Given the description of an element on the screen output the (x, y) to click on. 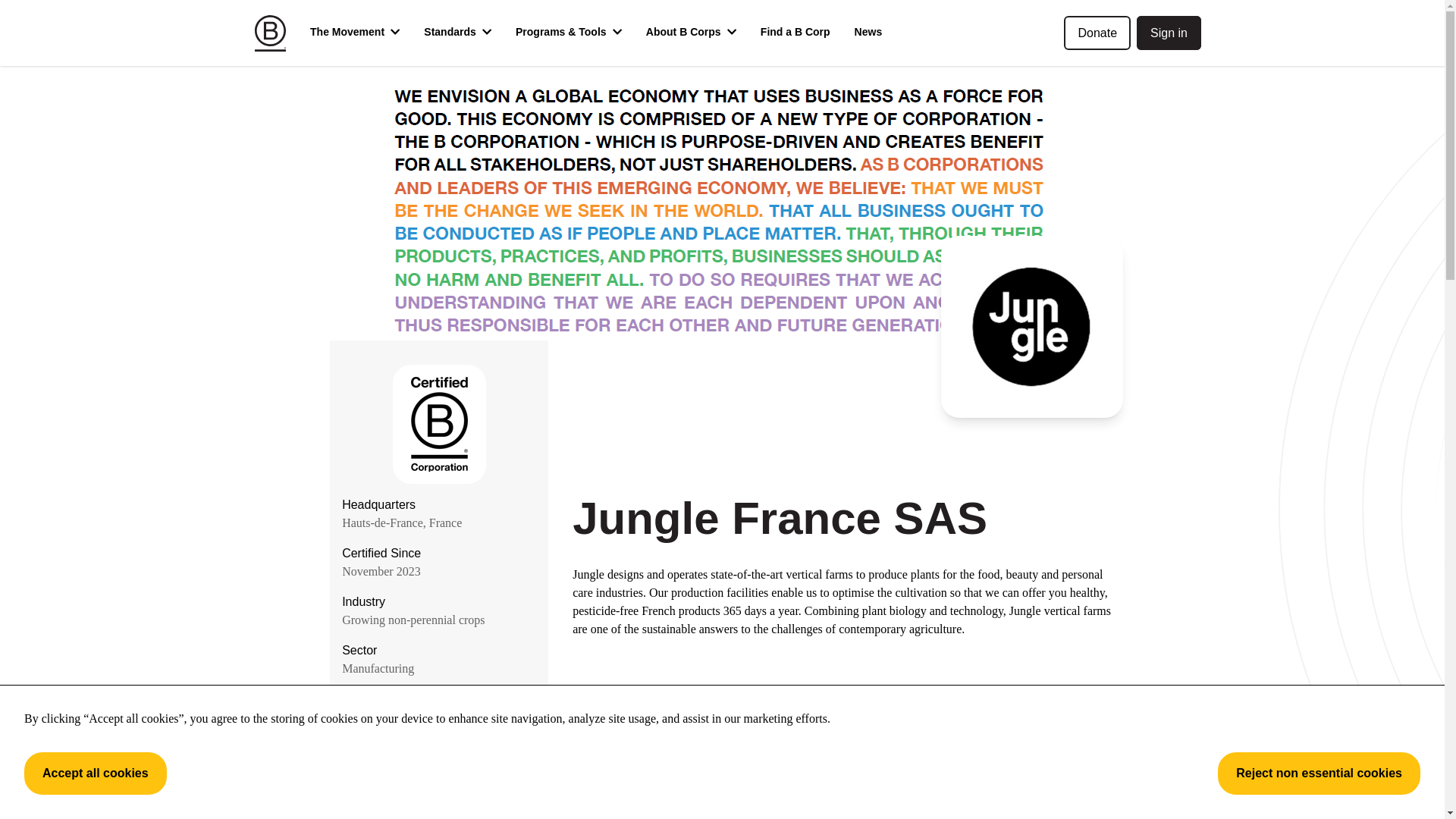
Help widget launcher (1346, 758)
Accept all cookies (95, 773)
Sign in (1169, 32)
Reject non essential cookies (1319, 773)
News (869, 33)
Donate (1097, 32)
Find a B Corp (795, 33)
